Given the description of an element on the screen output the (x, y) to click on. 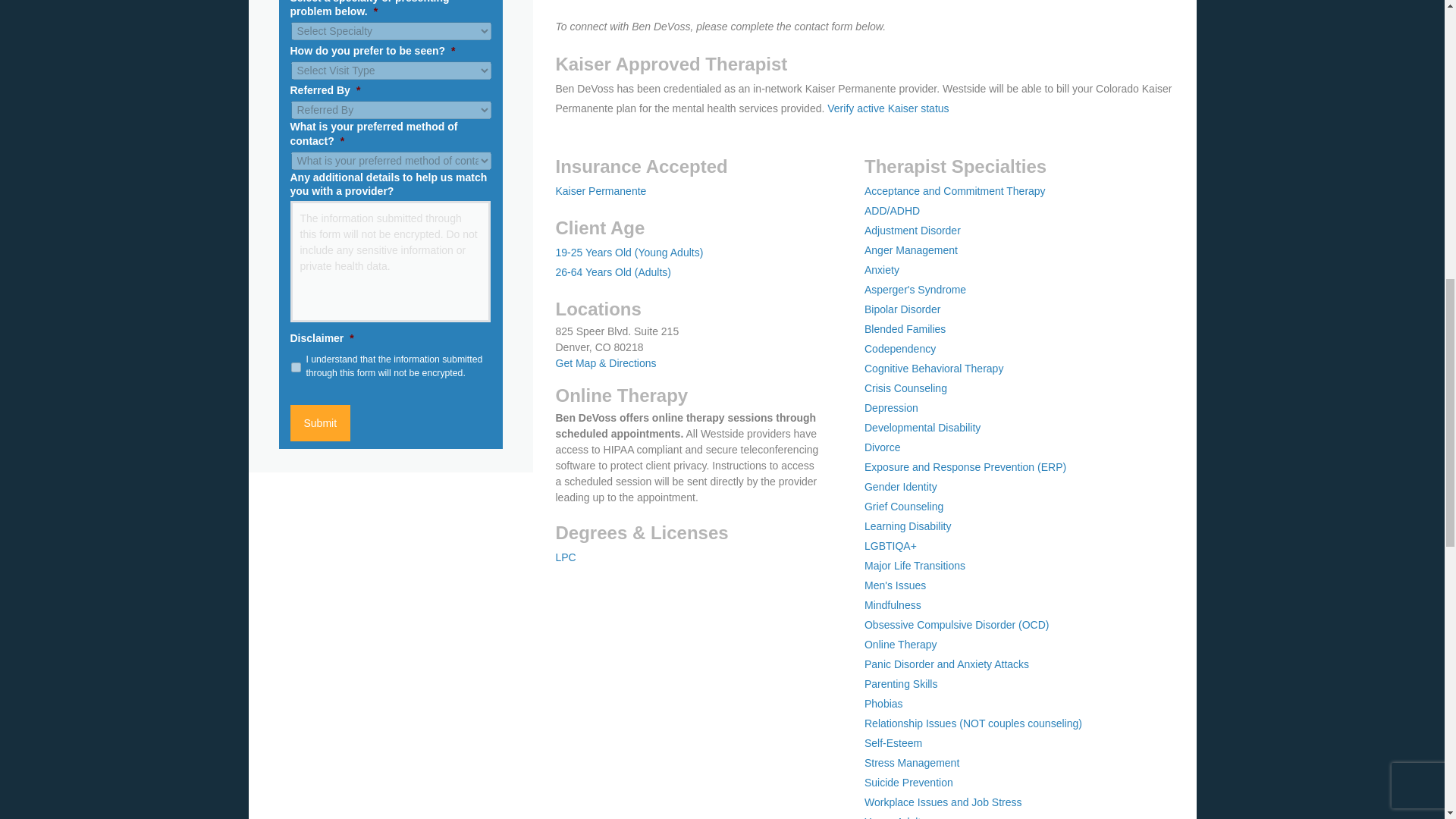
Submit (319, 422)
